Given the description of an element on the screen output the (x, y) to click on. 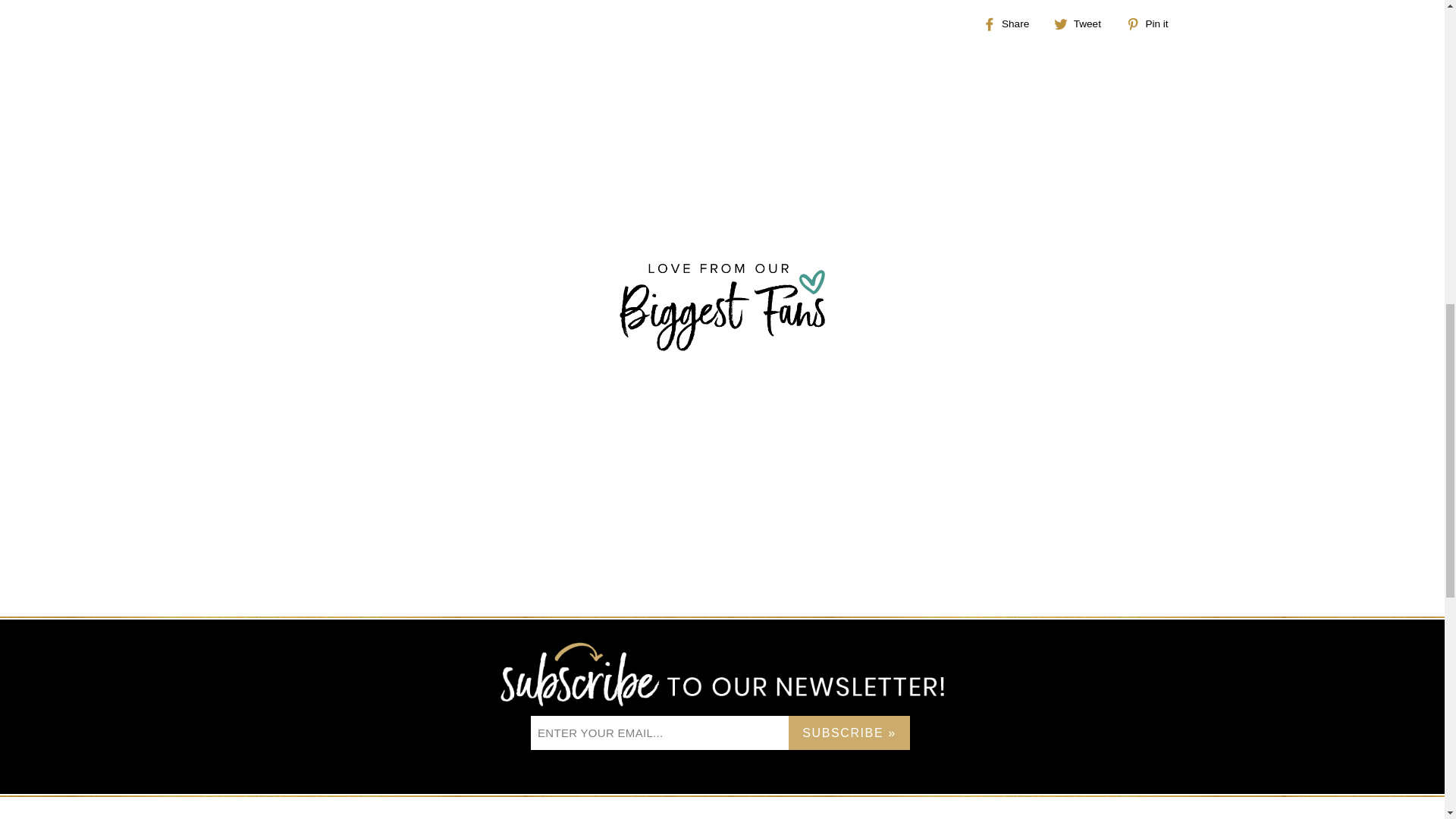
Share on Facebook (1011, 24)
Pin on Pinterest (1152, 24)
Tweet on Twitter (1083, 24)
